Given the description of an element on the screen output the (x, y) to click on. 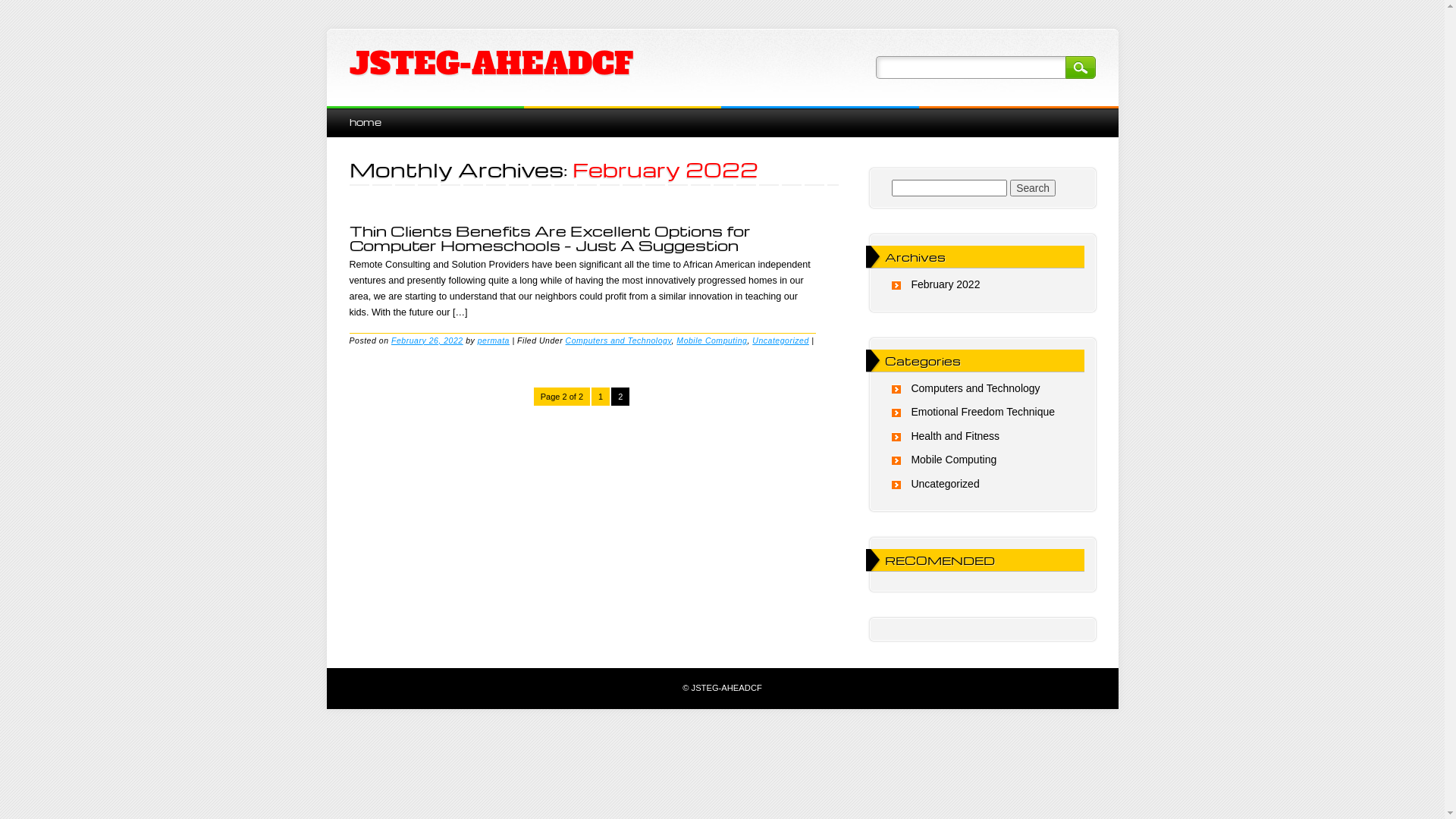
Emotional Freedom Technique Element type: text (982, 411)
Computers and Technology Element type: text (974, 388)
Health and Fitness Element type: text (954, 435)
February 2022 Element type: text (944, 284)
home Element type: text (364, 121)
Uncategorized Element type: text (780, 339)
Search Element type: text (1079, 67)
1 Element type: text (600, 396)
Search Element type: text (1032, 187)
February 26, 2022 Element type: text (427, 339)
Mobile Computing Element type: text (711, 339)
JSTEG-AHEADCF Element type: text (490, 63)
Skip to content Element type: text (361, 113)
Computers and Technology Element type: text (618, 339)
Uncategorized Element type: text (944, 483)
permata Element type: text (493, 339)
Mobile Computing Element type: text (953, 459)
